Given the description of an element on the screen output the (x, y) to click on. 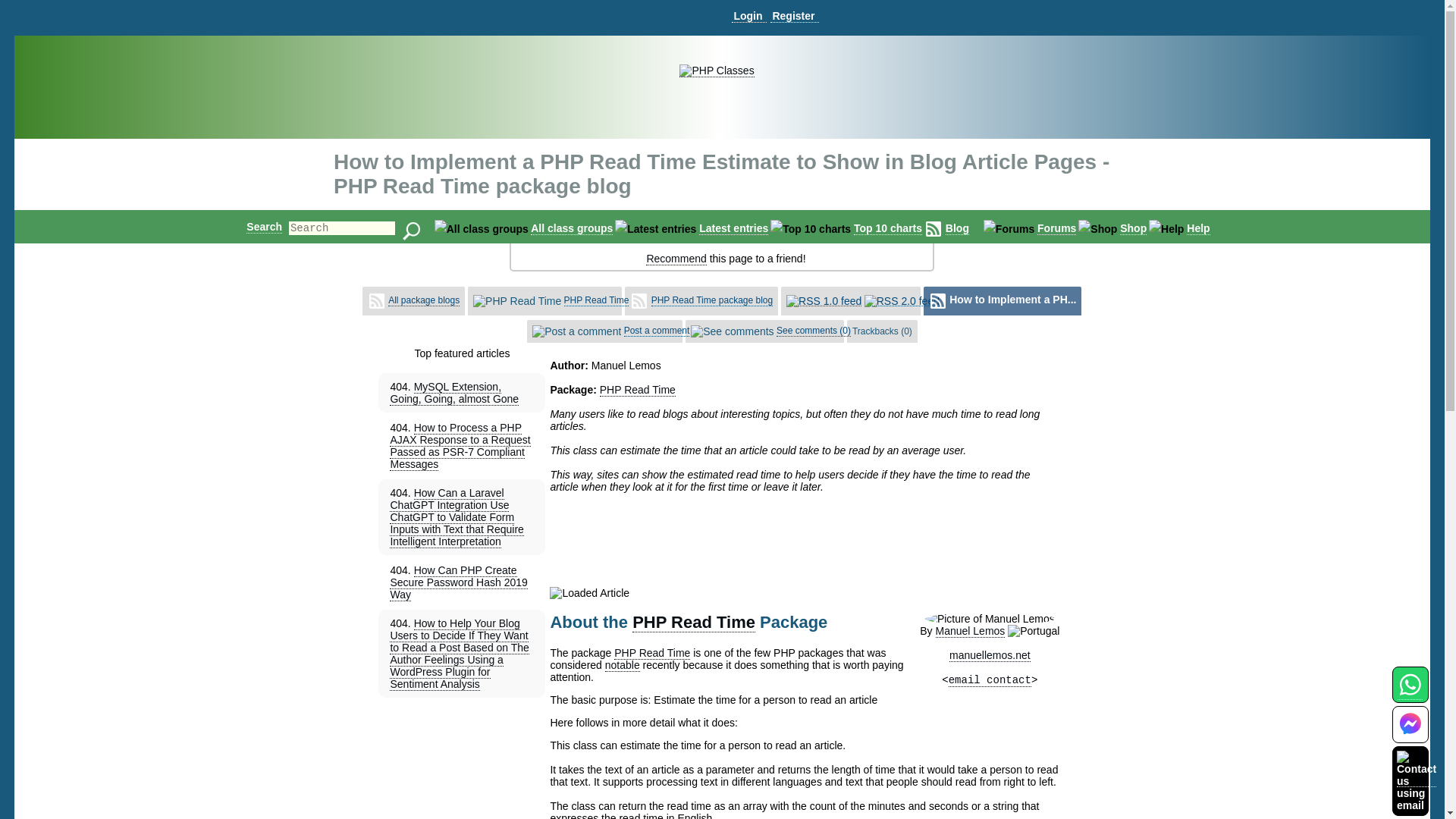
Latest entries (733, 228)
Contact us using Messenger (1409, 733)
Contact us using email (1415, 780)
All package blogs (424, 300)
Recommend (676, 258)
Portugal (1033, 630)
Shop (1133, 228)
Login (748, 15)
Post a comment (657, 330)
Help (1197, 228)
manuellemos.net (989, 655)
Manuel Lemos (971, 631)
PHP Read Time (637, 390)
